Given the description of an element on the screen output the (x, y) to click on. 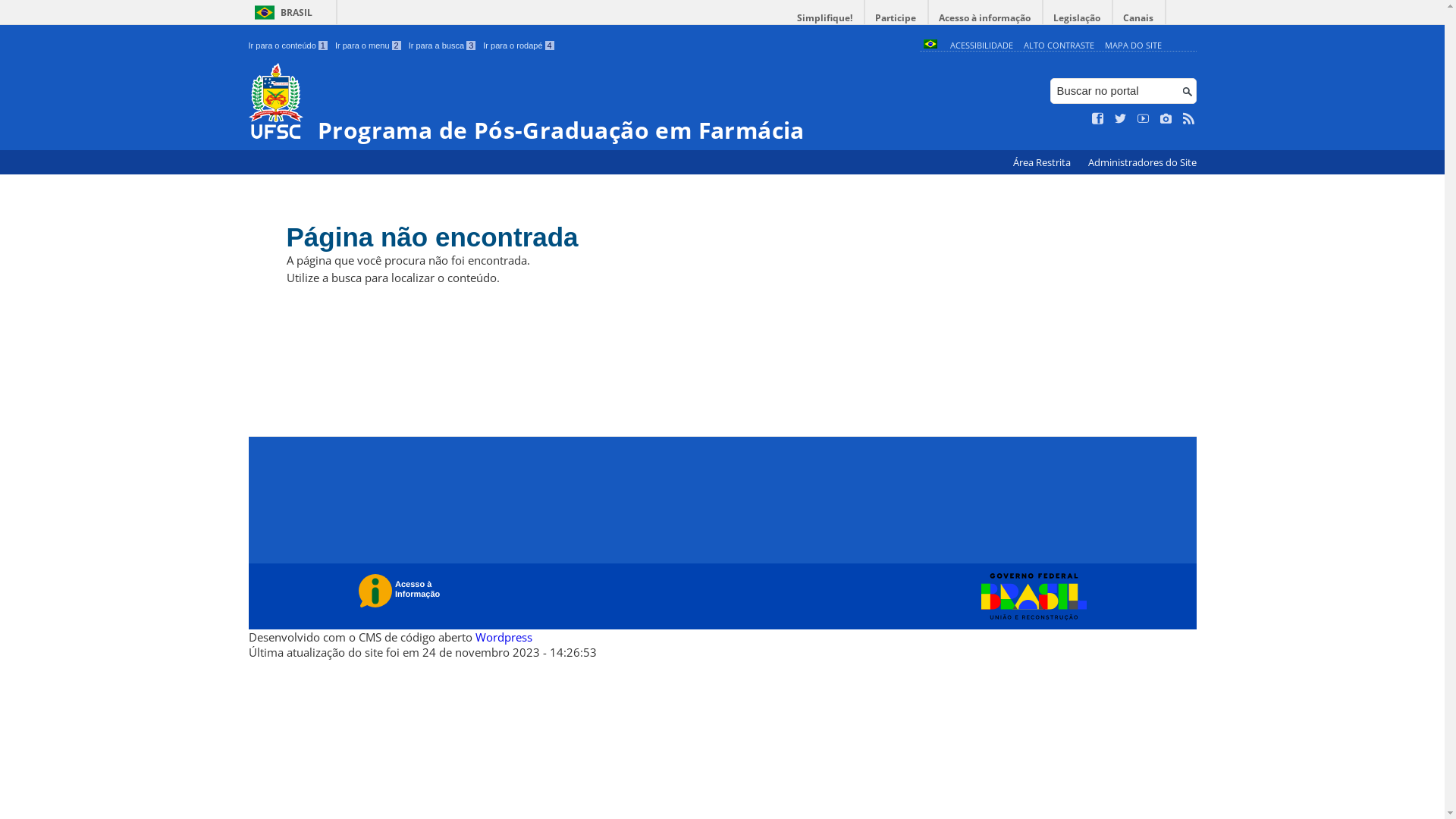
Governo Federal Element type: hover (1029, 596)
Participe Element type: text (895, 18)
Administradores do Site Element type: text (1141, 162)
Siga no Twitter Element type: hover (1120, 118)
Simplifique! Element type: text (825, 18)
ACESSIBILIDADE Element type: text (981, 44)
Wordpress Element type: text (502, 636)
BRASIL Element type: text (280, 12)
Ir para a busca 3 Element type: text (442, 45)
Ir para o menu 2 Element type: text (368, 45)
MAPA DO SITE Element type: text (1132, 44)
Curta no Facebook Element type: hover (1098, 118)
ALTO CONTRASTE Element type: text (1058, 44)
Veja no Instagram Element type: hover (1166, 118)
Canais Element type: text (1138, 18)
